Given the description of an element on the screen output the (x, y) to click on. 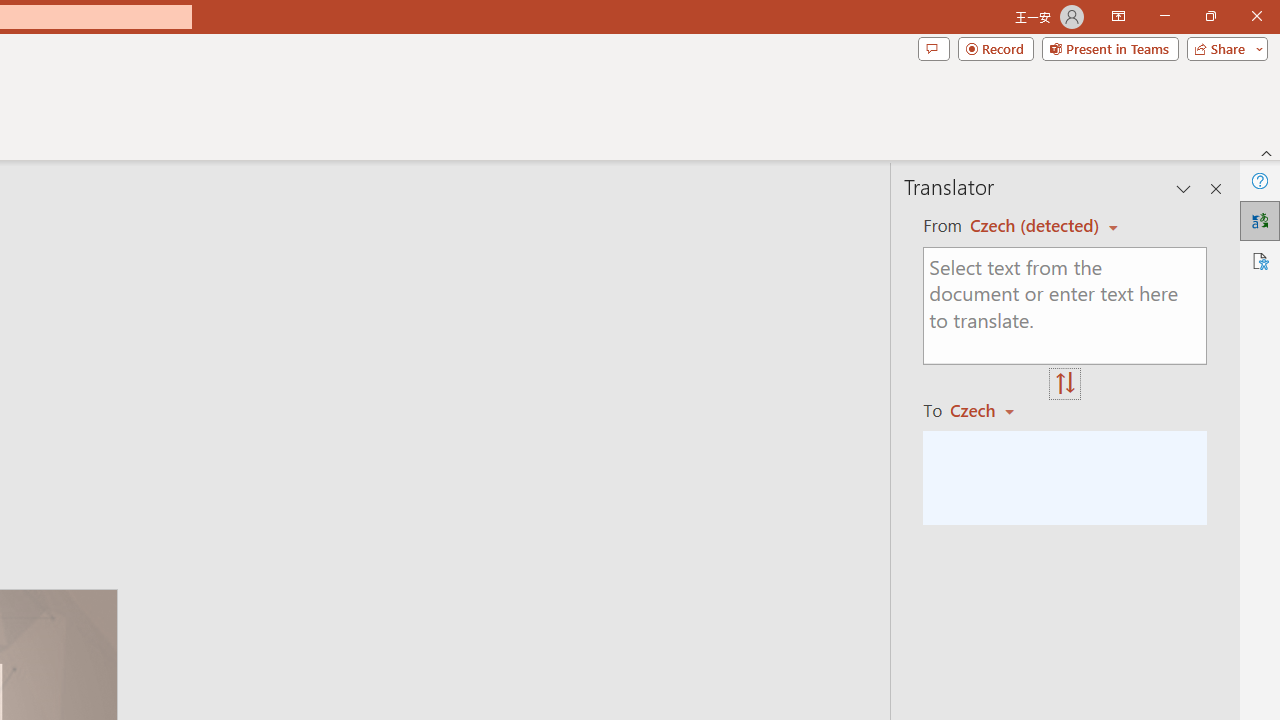
English (1037, 225)
